Given the description of an element on the screen output the (x, y) to click on. 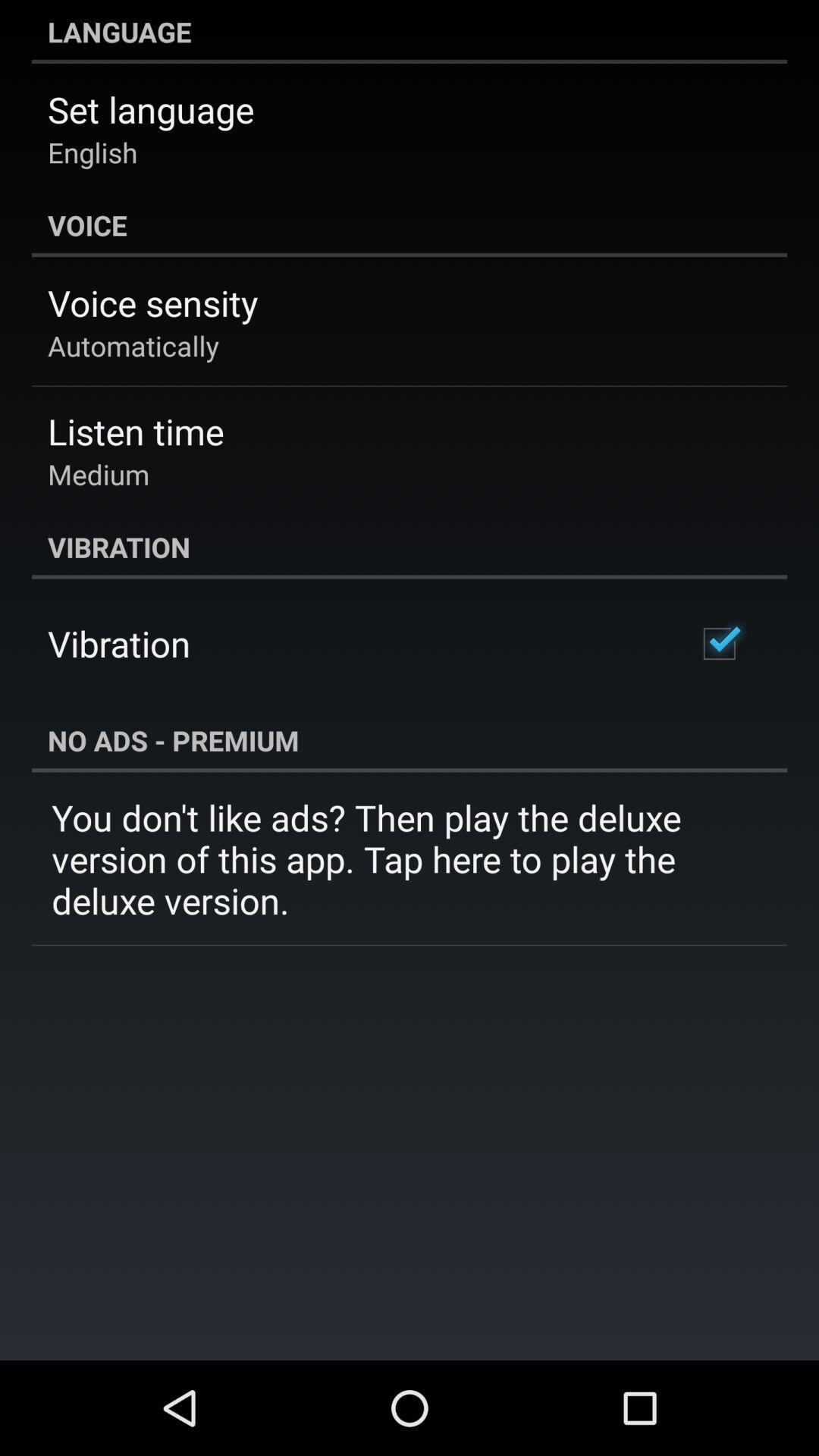
click app below the voice (152, 302)
